Given the description of an element on the screen output the (x, y) to click on. 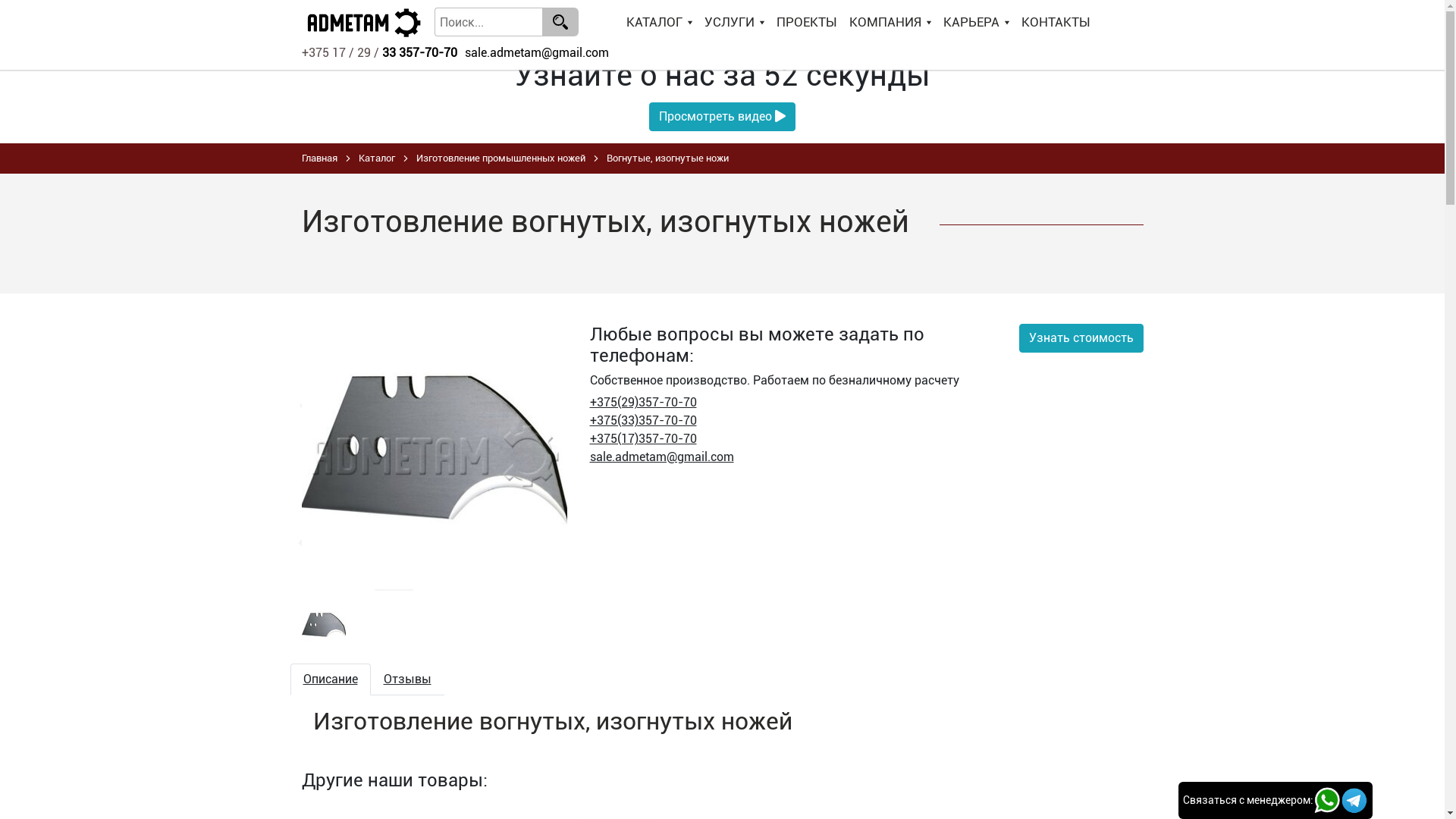
+375(29)357-70-70 Element type: text (642, 402)
+375(33)357-70-70 Element type: text (642, 420)
sale.admetam@gmail.com Element type: text (536, 52)
sale.admetam@gmail.com Element type: text (661, 456)
+375(17)357-70-70 Element type: text (642, 438)
33 357-70-70 Element type: text (419, 52)
